Given the description of an element on the screen output the (x, y) to click on. 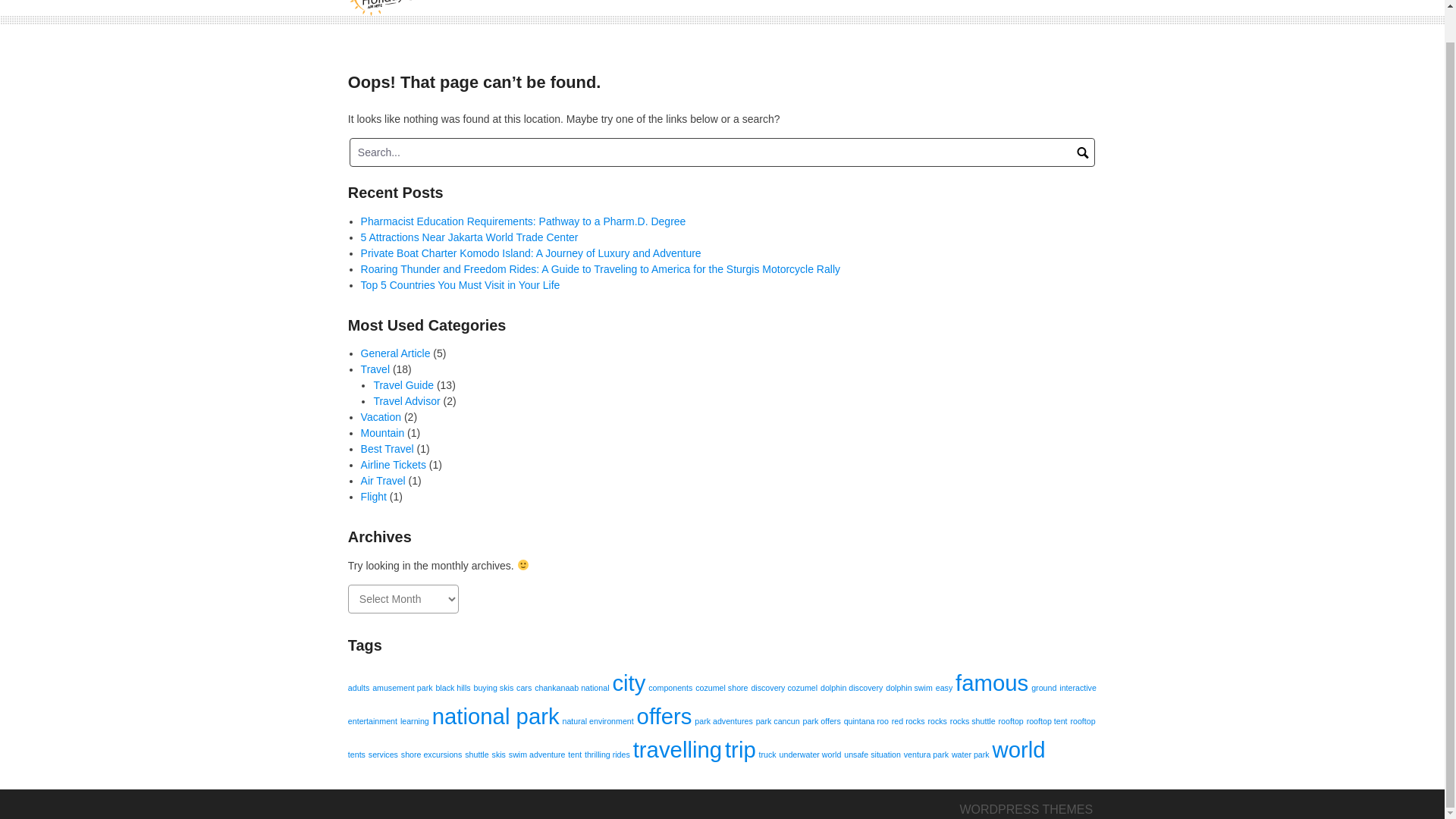
Travel Guide (402, 385)
5 Attractions Near Jakarta World Trade Center (469, 236)
Search for: (721, 152)
Top 5 Countries You Must Visit in Your Life (460, 285)
General Article (395, 353)
Travel (375, 369)
